Given the description of an element on the screen output the (x, y) to click on. 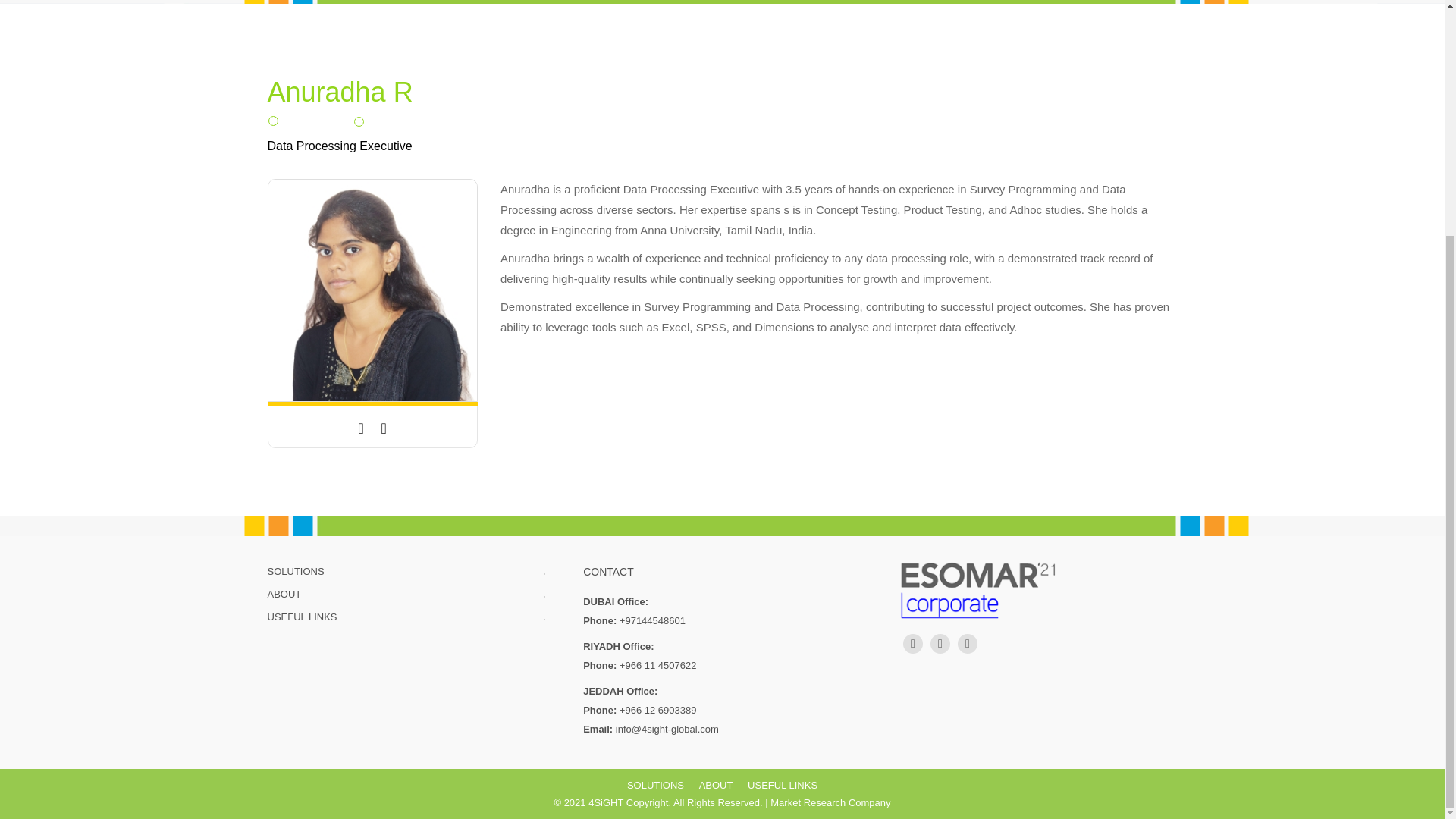
Mail (360, 428)
Instagram (967, 643)
ESOMAR Membership Information (1038, 590)
Linkedin (940, 643)
Linkedin (383, 428)
Twitter (912, 643)
